Given the description of an element on the screen output the (x, y) to click on. 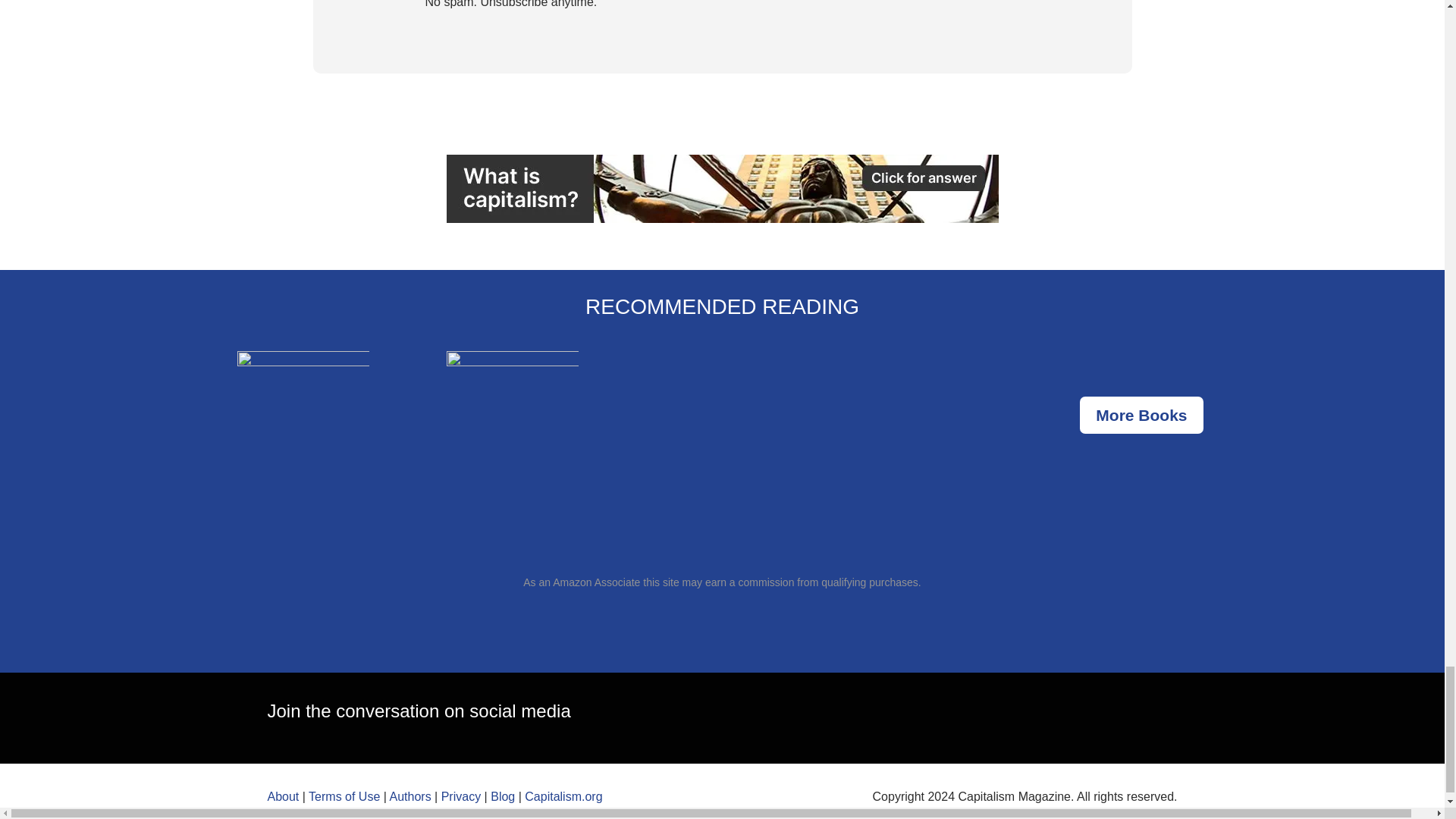
Capitalism Tour (721, 188)
